Given the description of an element on the screen output the (x, y) to click on. 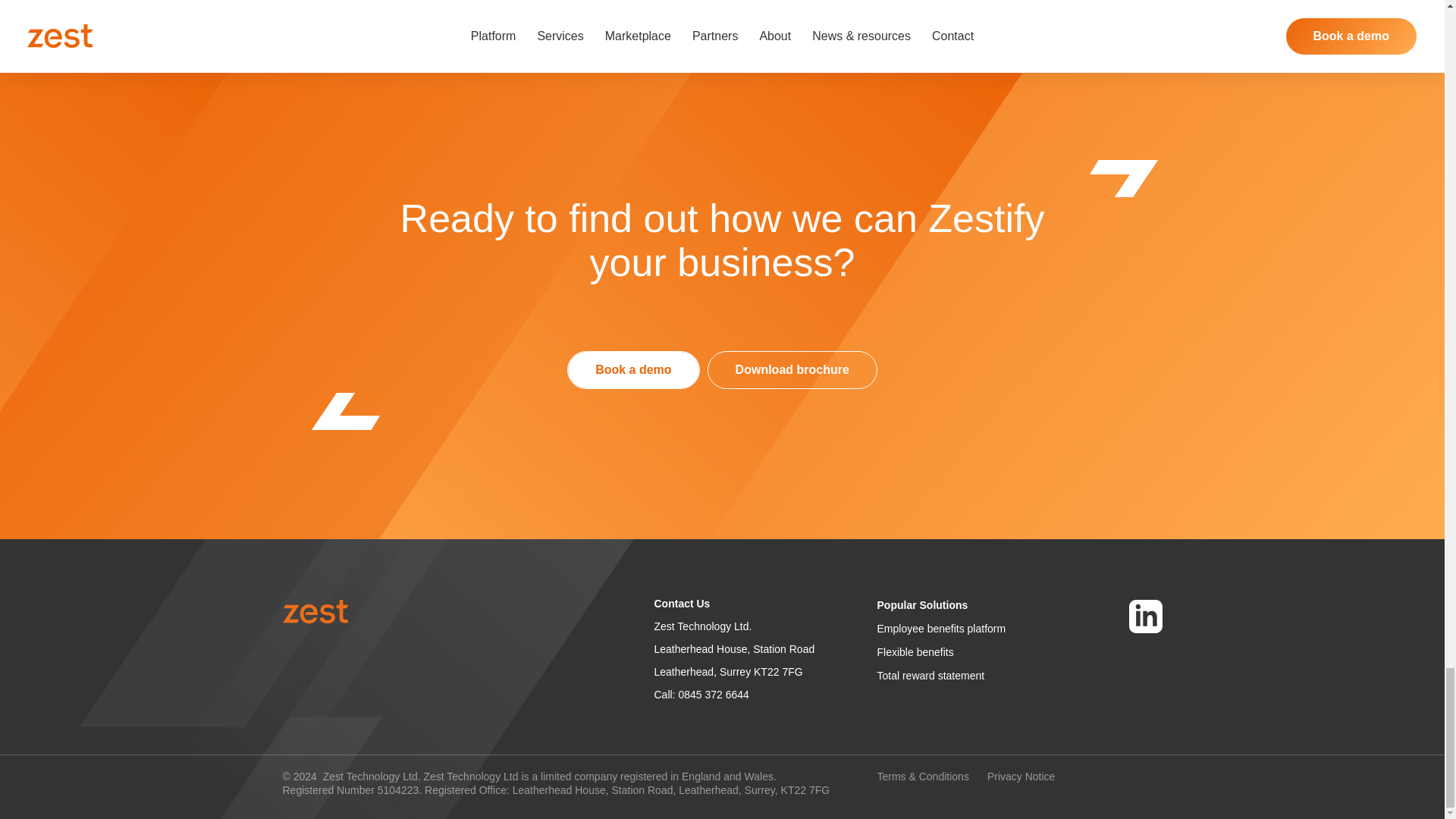
Book a demo (632, 370)
LinkedIn (1144, 616)
